Given the description of an element on the screen output the (x, y) to click on. 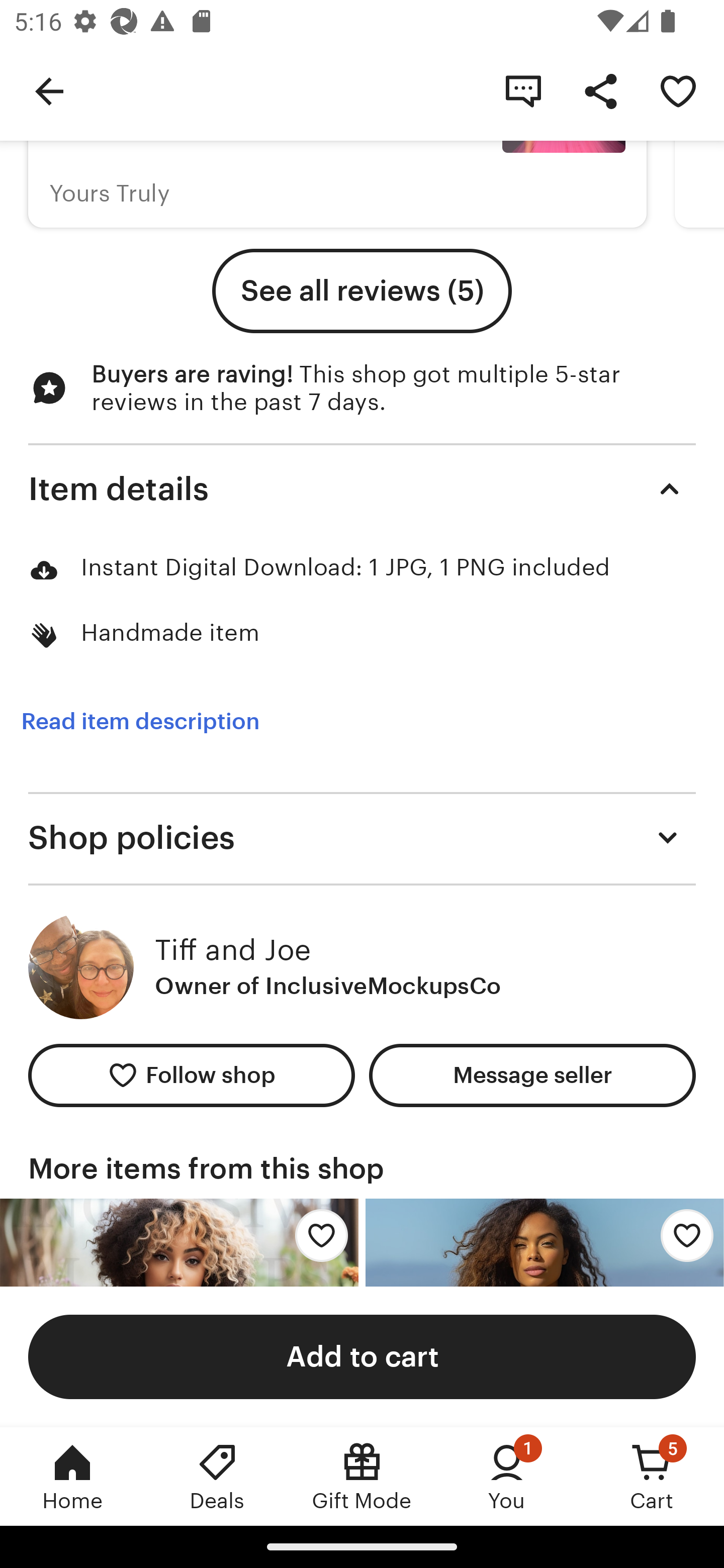
Navigate up (49, 90)
Contact shop (523, 90)
Share (600, 90)
See all reviews (5) (361, 290)
Item details (362, 488)
Read item description (140, 720)
Shop policies (362, 836)
Follow shop Follow InclusiveMockupsCo (191, 1075)
Message seller (532, 1075)
Add to cart (361, 1355)
Deals (216, 1475)
Gift Mode (361, 1475)
You, 1 new notification You (506, 1475)
Cart, 5 new notifications Cart (651, 1475)
